Given the description of an element on the screen output the (x, y) to click on. 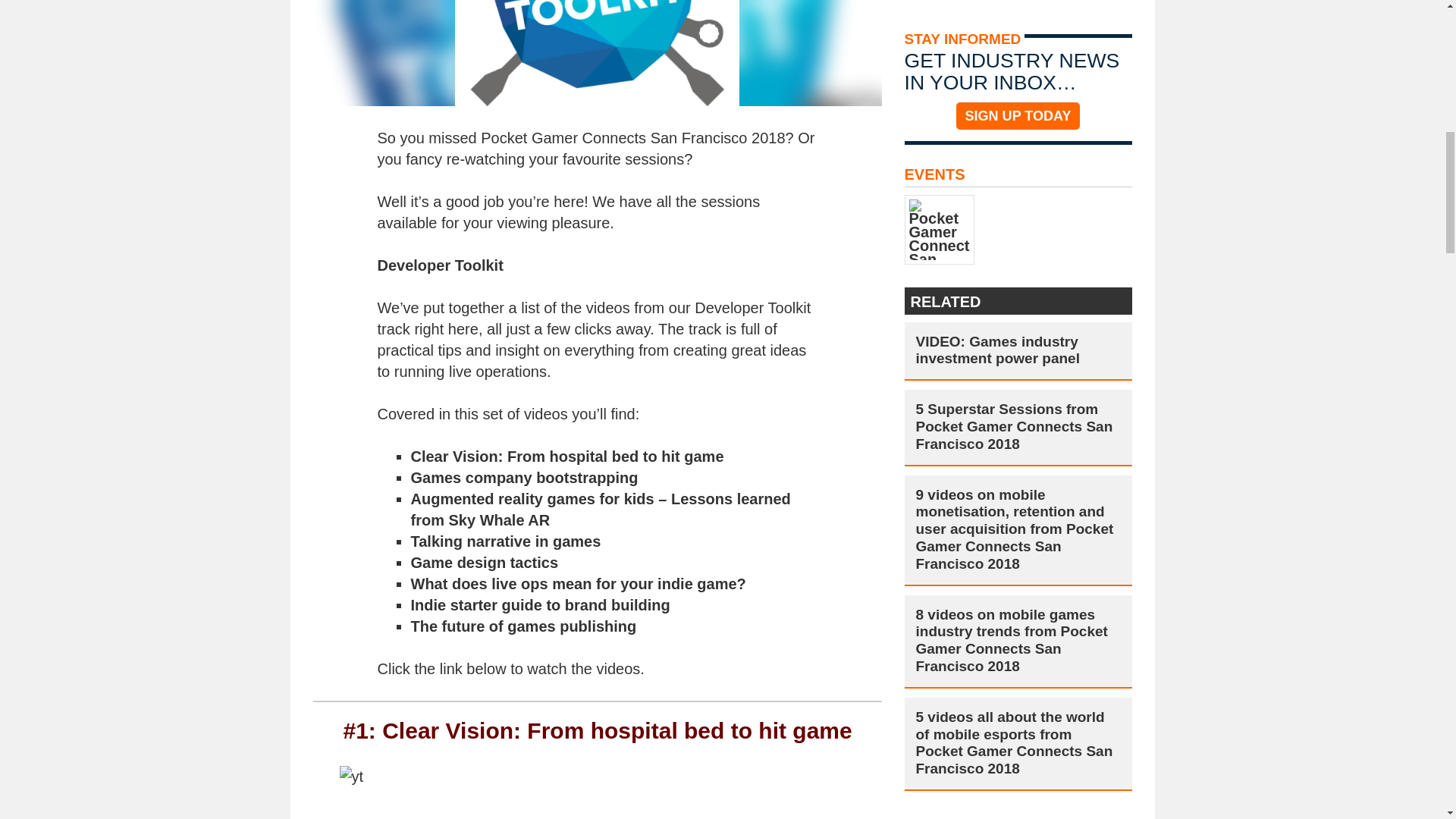
VIDEO: Games industry investment power panel (1017, 351)
